Given the description of an element on the screen output the (x, y) to click on. 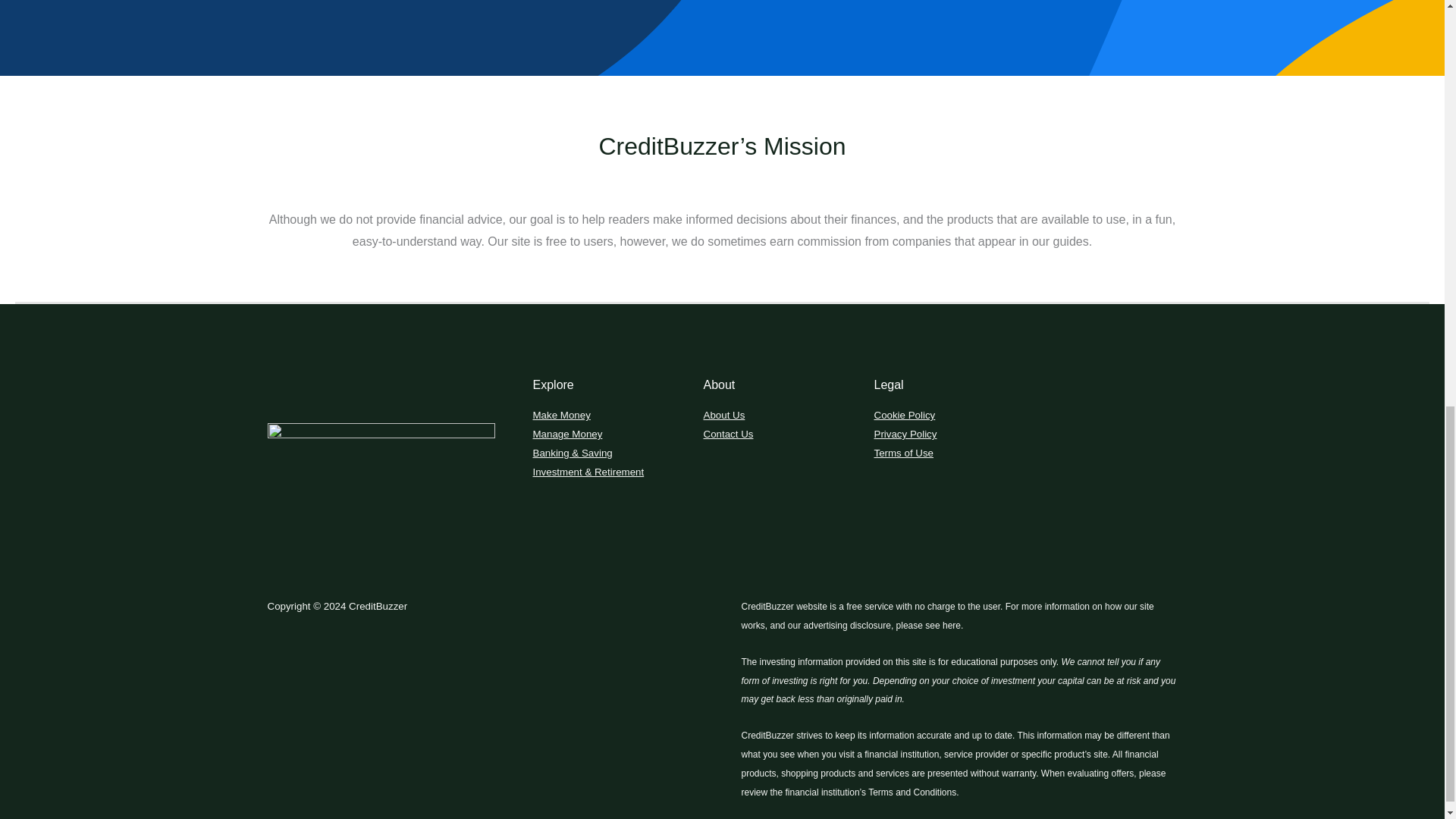
Make Money (560, 414)
Contact Us (728, 433)
Cookie Policy (903, 414)
Manage Money (567, 433)
Privacy Policy (904, 433)
About Us (724, 414)
Terms of Use (903, 452)
